Given the description of an element on the screen output the (x, y) to click on. 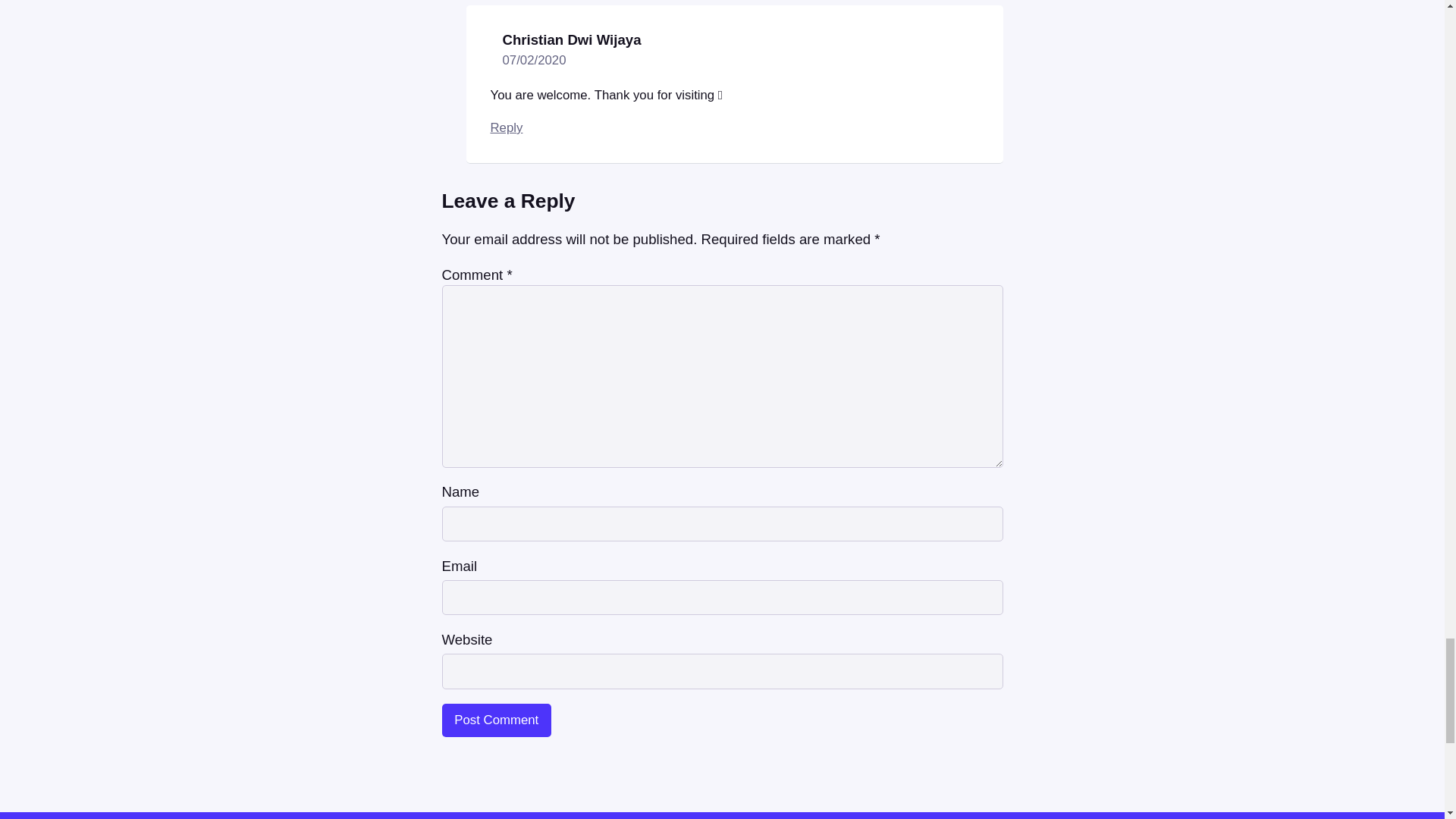
Reply (505, 127)
Post Comment (496, 720)
Post Comment (496, 720)
